Given the description of an element on the screen output the (x, y) to click on. 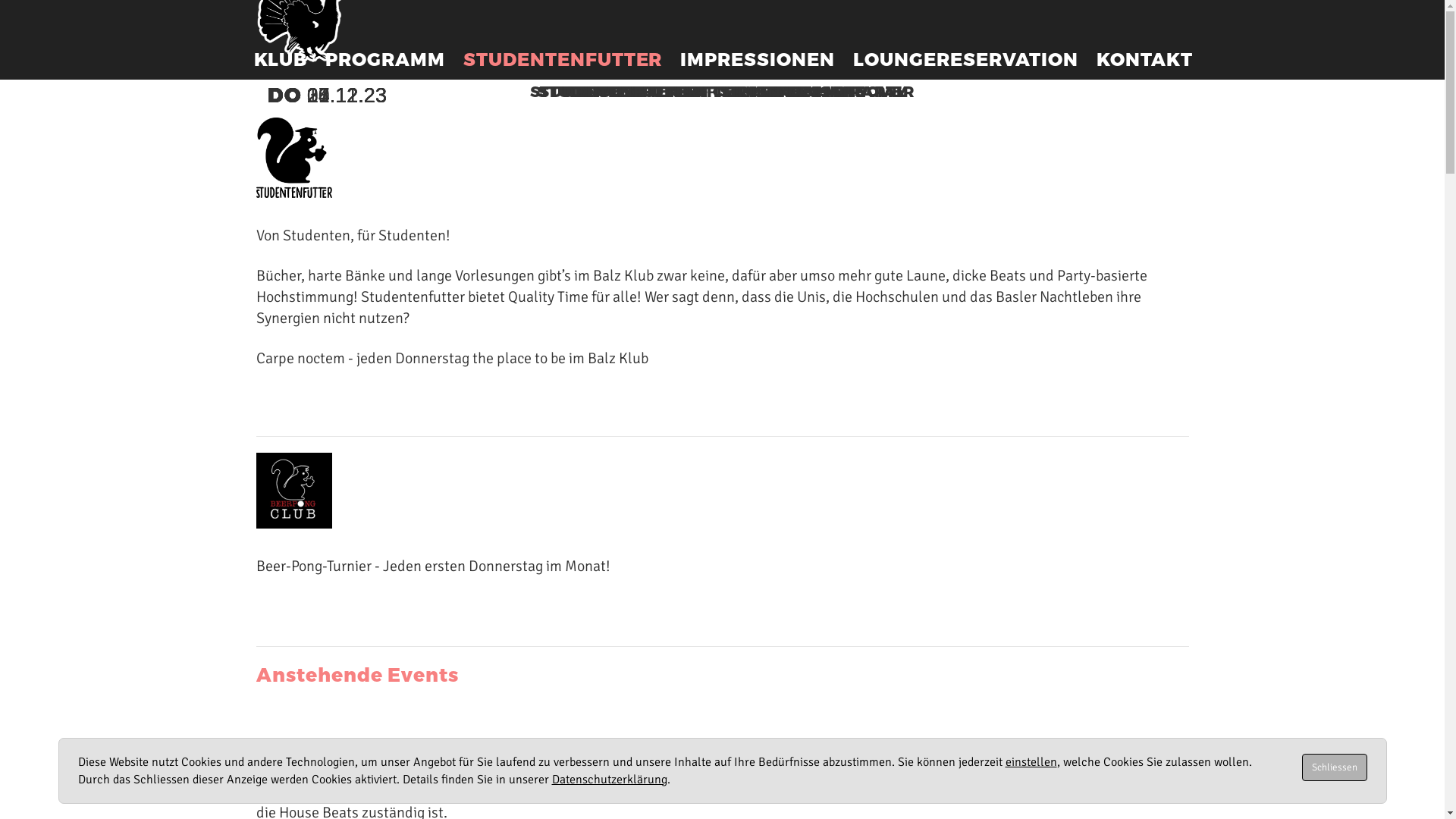
STUDENTENFUTTER Element type: text (562, 59)
Schliessen Element type: text (1333, 767)
PROGRAMM Element type: text (385, 59)
KLUB Element type: text (280, 59)
KONTAKT Element type: text (1144, 59)
IMPRESSIONEN Element type: text (757, 59)
LOUNGERESERVATION Element type: text (965, 59)
